Given the description of an element on the screen output the (x, y) to click on. 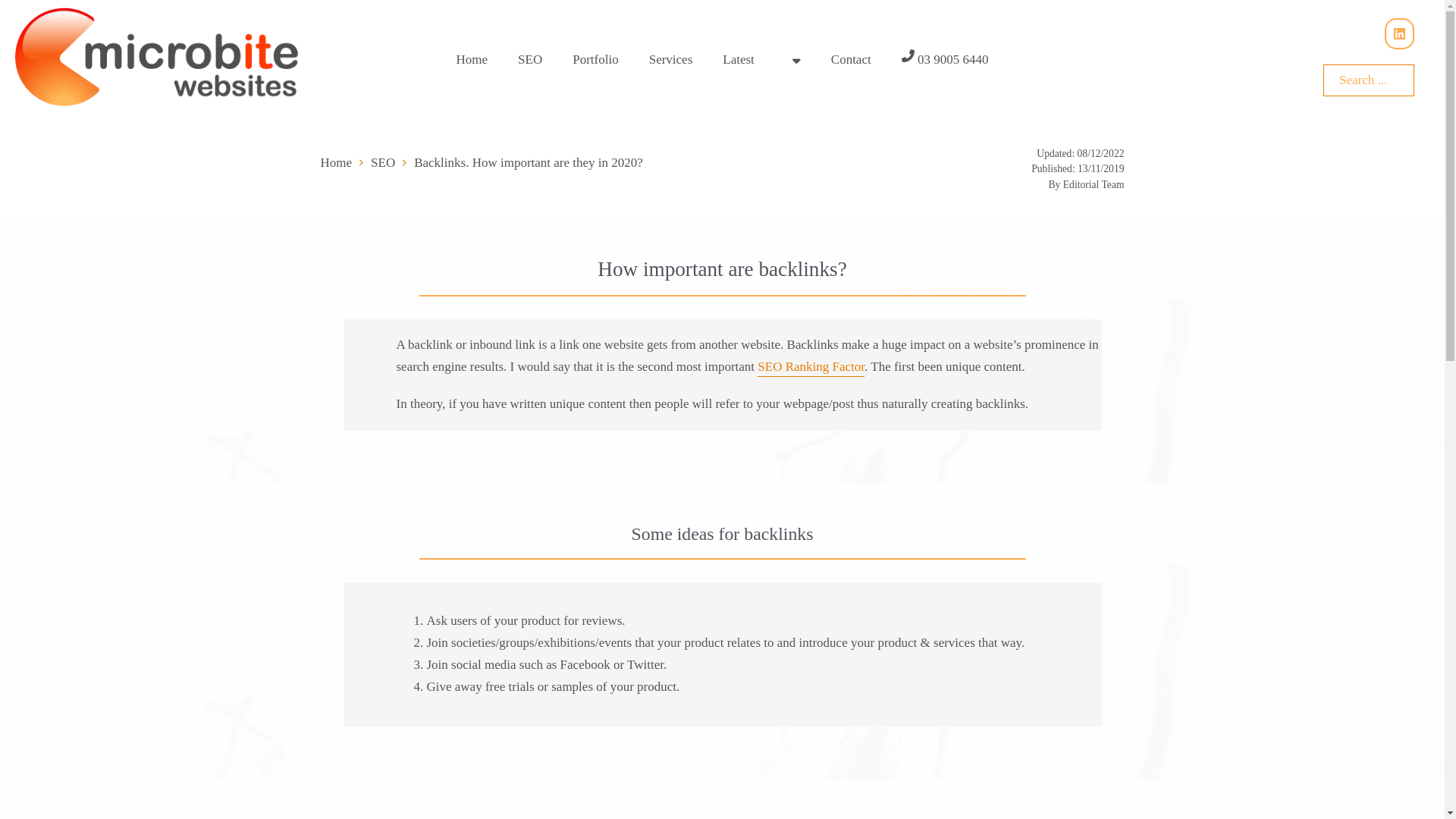
Portfolio Element type: text (595, 60)
Home Element type: text (472, 60)
 03 9005 6440 Element type: text (945, 60)
SEO Element type: text (529, 60)
Latest Element type: text (738, 59)
Contact Element type: text (850, 60)
SEO Element type: text (382, 163)
Home Element type: text (335, 163)
SEO Ranking Factor Element type: text (810, 367)
Services Element type: text (670, 60)
